Given the description of an element on the screen output the (x, y) to click on. 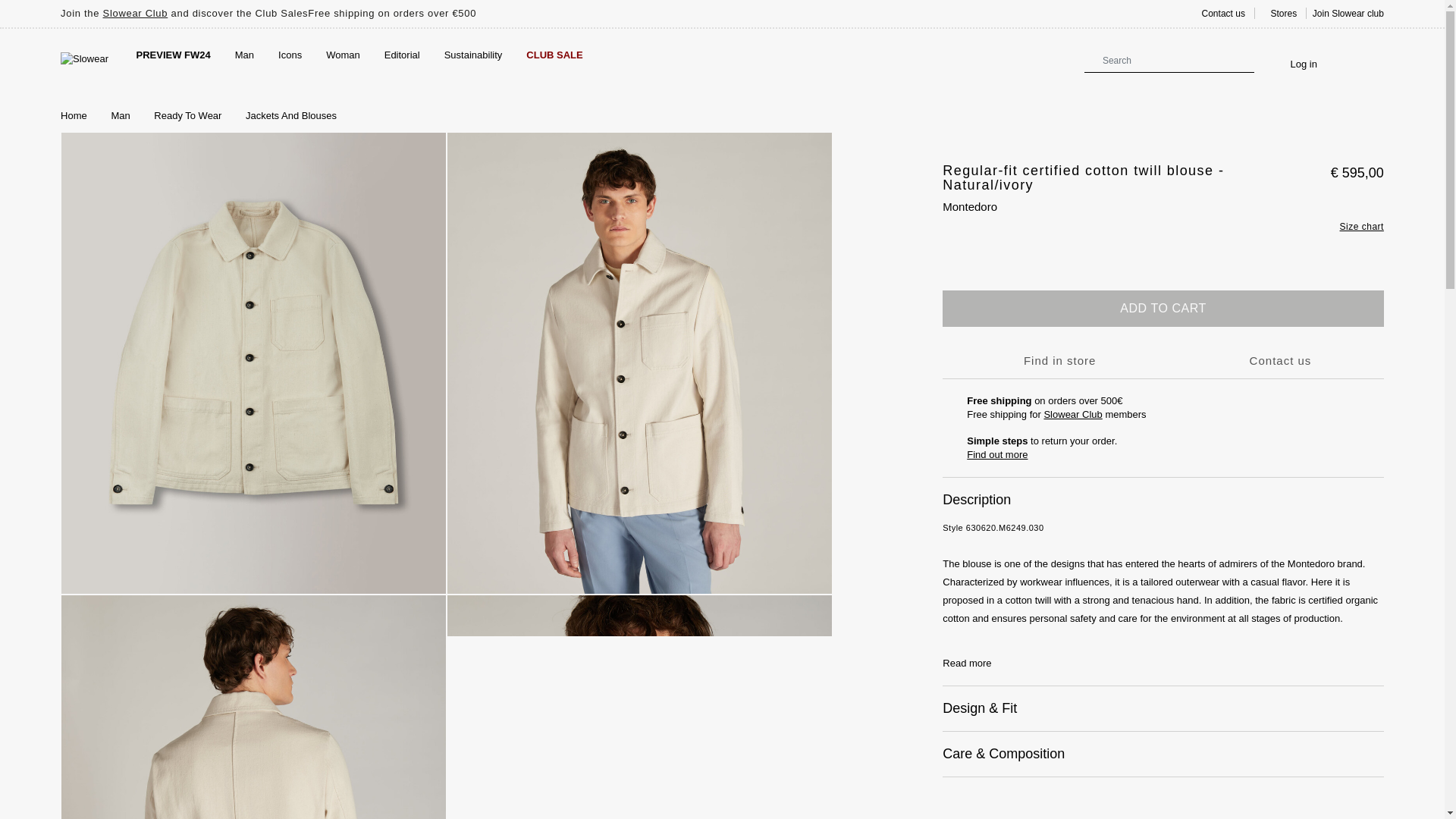
Stores (1278, 13)
PREVIEW FW24 (172, 55)
Join Slowear club (1348, 13)
Sustainability  (473, 55)
PREVIEW FW24 (172, 55)
Slowear (84, 59)
CLUB SALE (553, 55)
Icons (290, 55)
Slowear (84, 58)
Man (244, 55)
Join the Slowear Club and discover the Club Sales (184, 12)
